Given the description of an element on the screen output the (x, y) to click on. 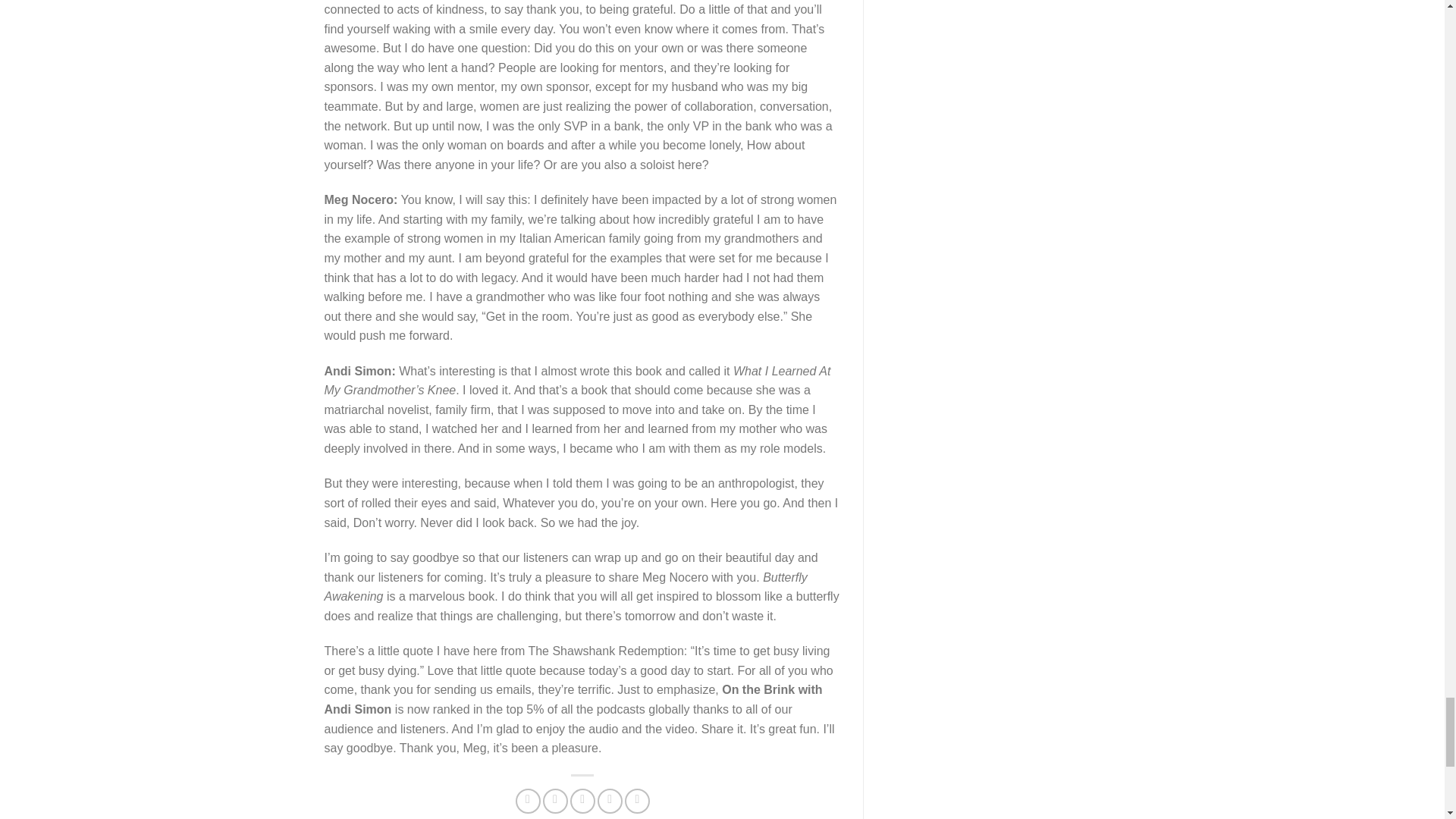
Share on Facebook (527, 801)
Pin on Pinterest (609, 801)
Email to a Friend (582, 801)
Share on Twitter (555, 801)
